Given the description of an element on the screen output the (x, y) to click on. 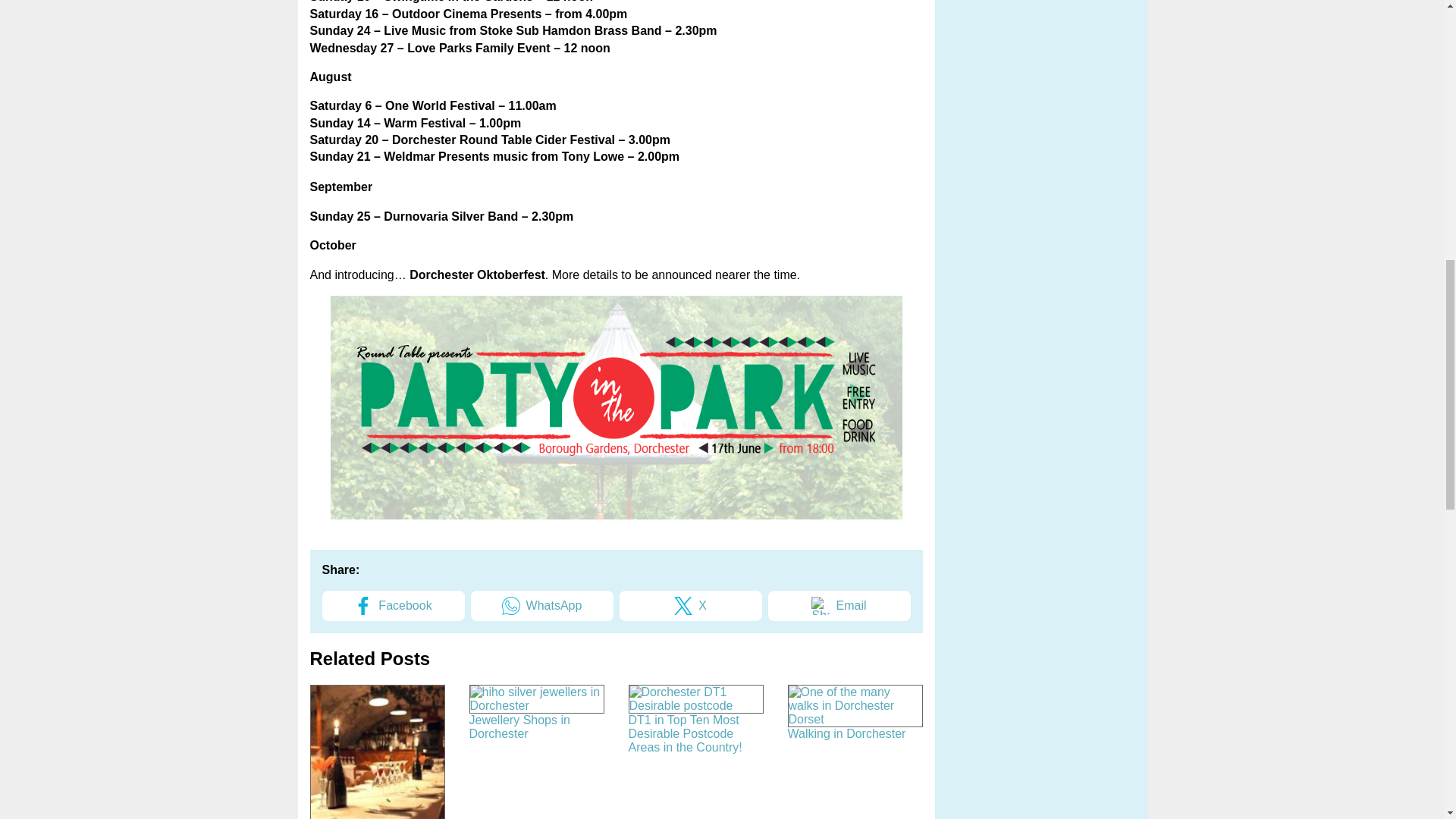
Share on Facebook. (392, 605)
Tweet this! (689, 605)
